Given the description of an element on the screen output the (x, y) to click on. 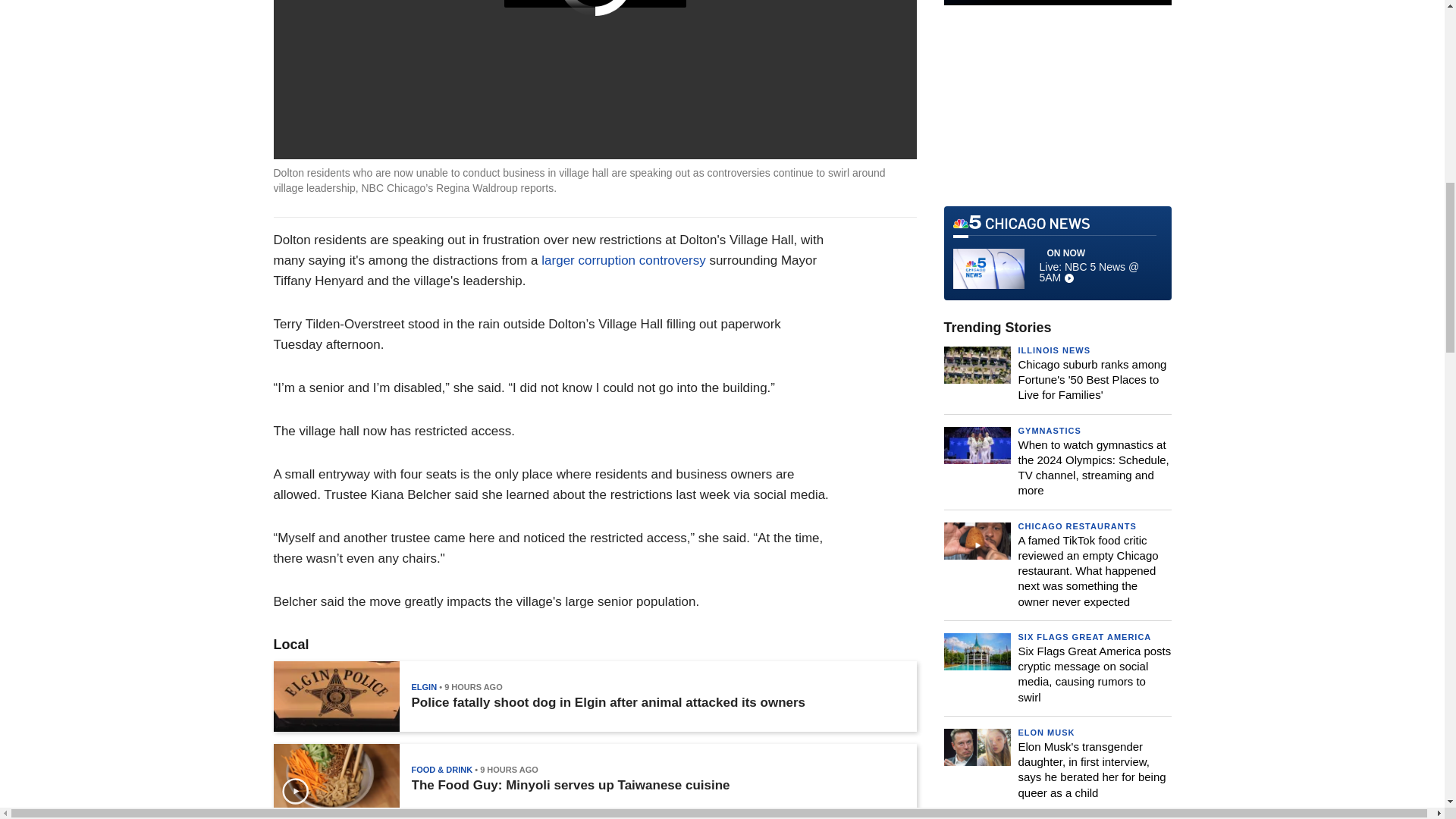
larger corruption controversy (622, 260)
